Given the description of an element on the screen output the (x, y) to click on. 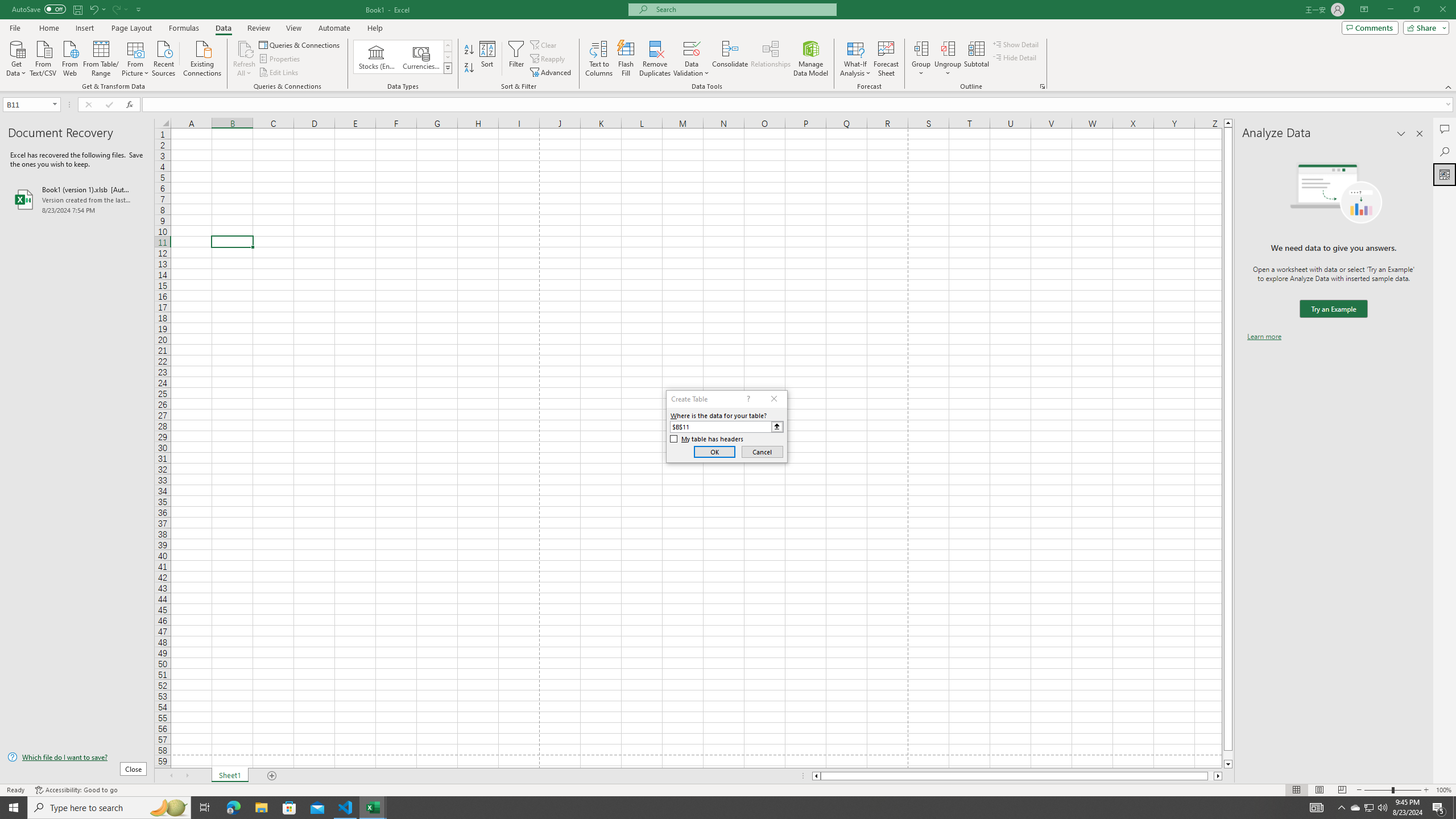
We need data to give you answers. Try an Example (1333, 308)
Queries & Connections (300, 44)
Sort... (487, 58)
What-If Analysis (855, 58)
